Given the description of an element on the screen output the (x, y) to click on. 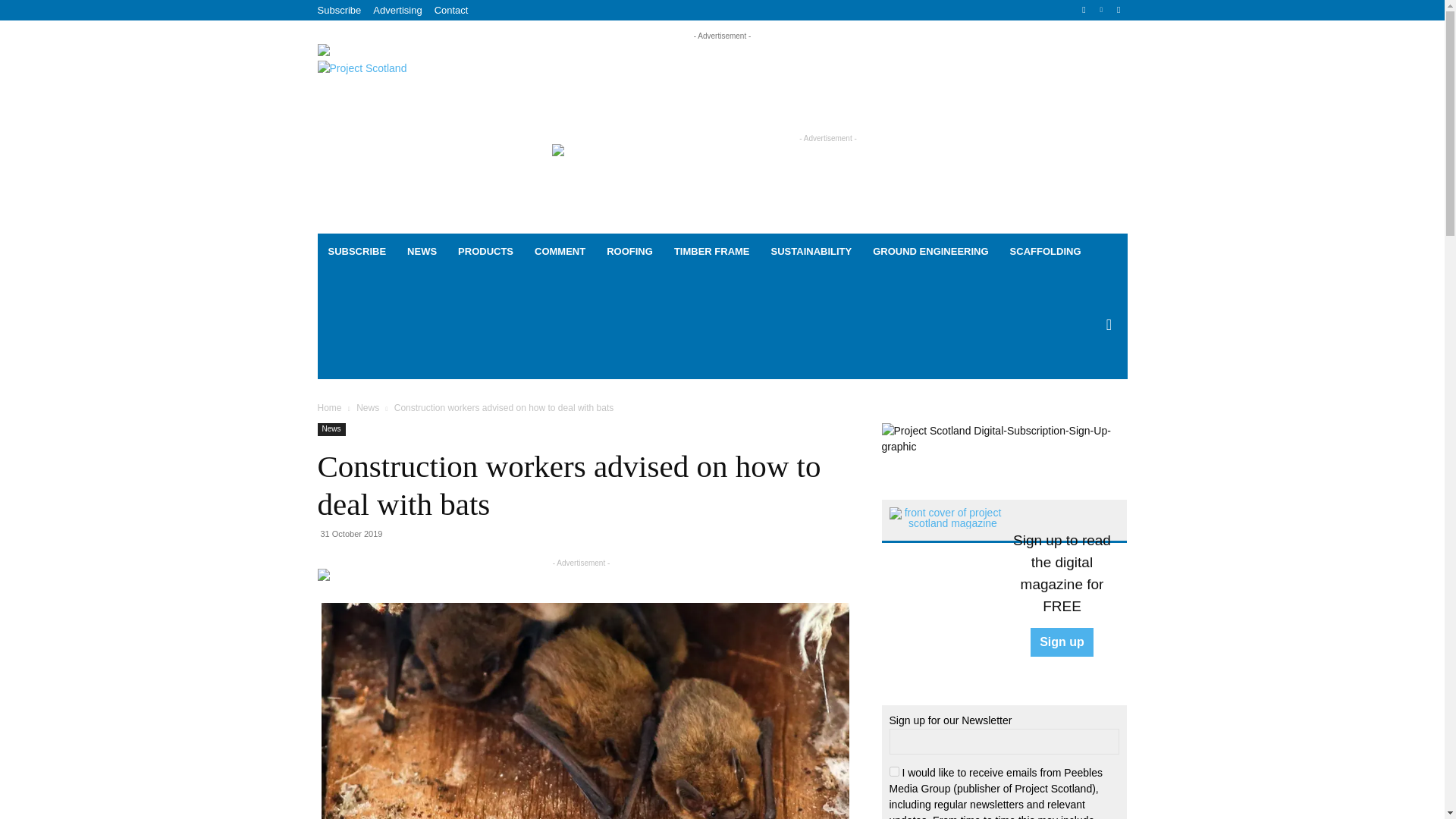
SCAFFOLDING (1045, 251)
Linkedin (1101, 9)
SUSTAINABILITY (811, 251)
Home (328, 407)
ROOFING (629, 251)
Twitter (1117, 9)
TIMBER FRAME (711, 251)
Facebook (1084, 9)
Contact (450, 9)
GROUND ENGINEERING (929, 251)
Advertising (397, 9)
on (893, 771)
